Given the description of an element on the screen output the (x, y) to click on. 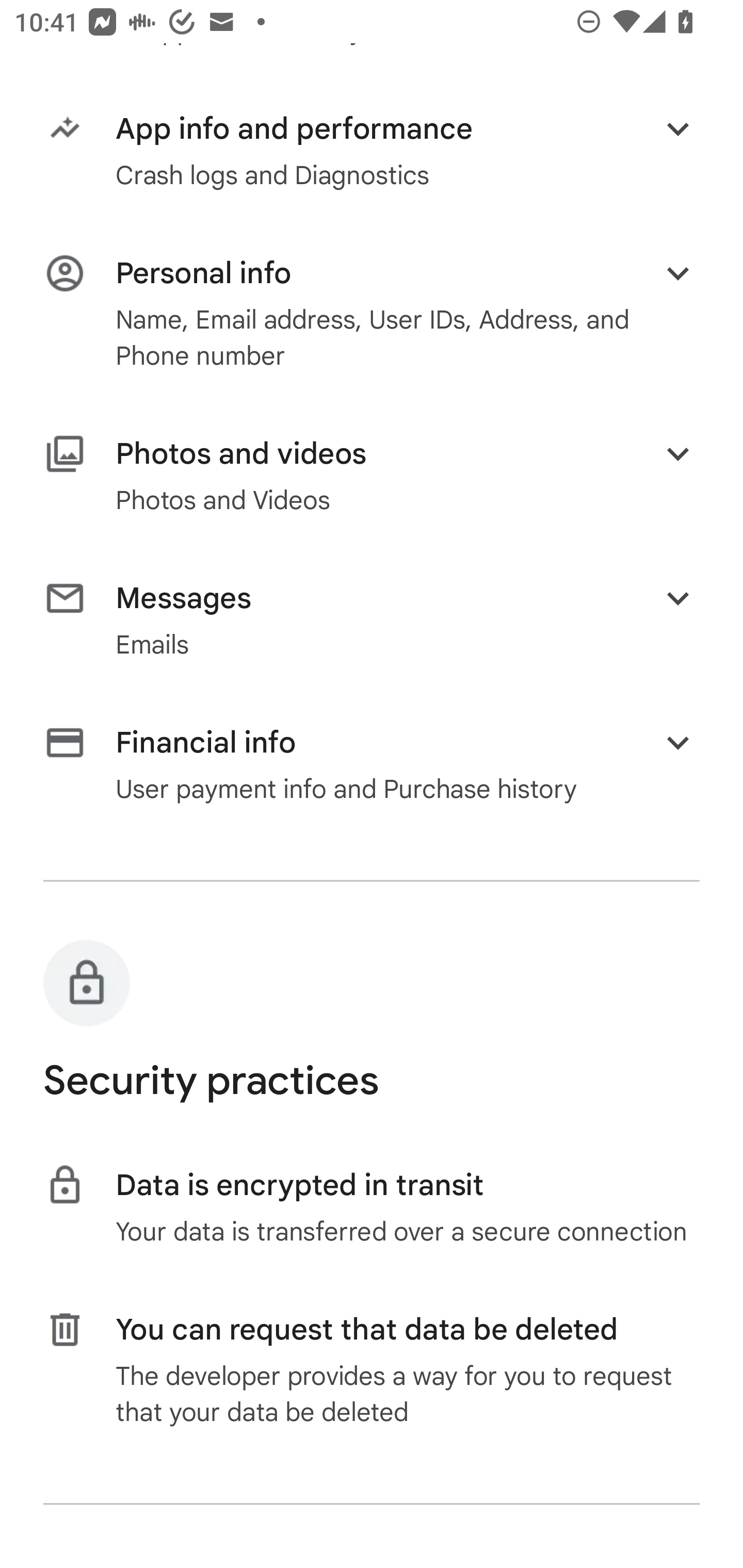
heading Messages Emails Expand button (371, 620)
